Given the description of an element on the screen output the (x, y) to click on. 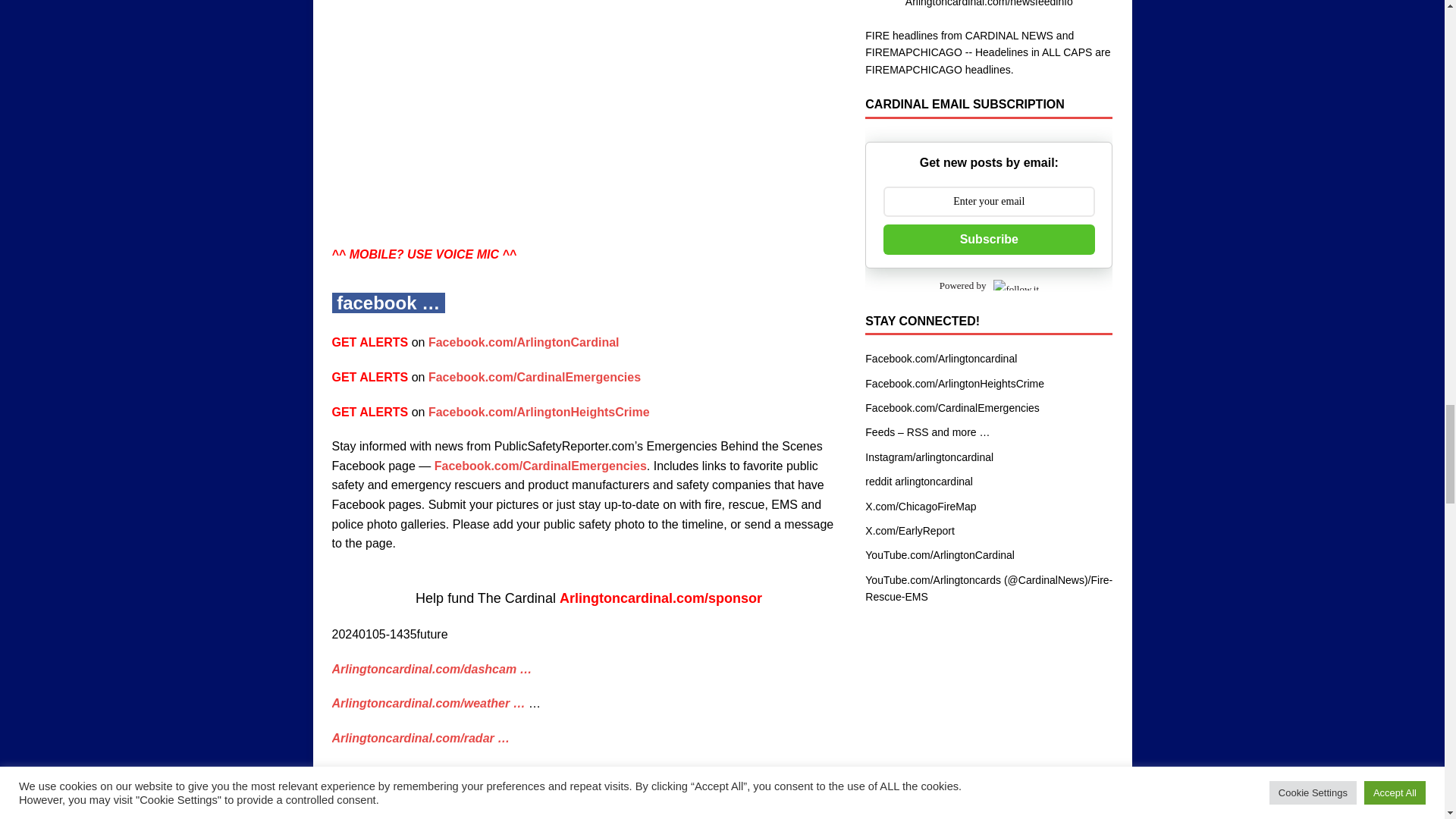
Not much activity here on reddit, yet. (918, 481)
